Given the description of an element on the screen output the (x, y) to click on. 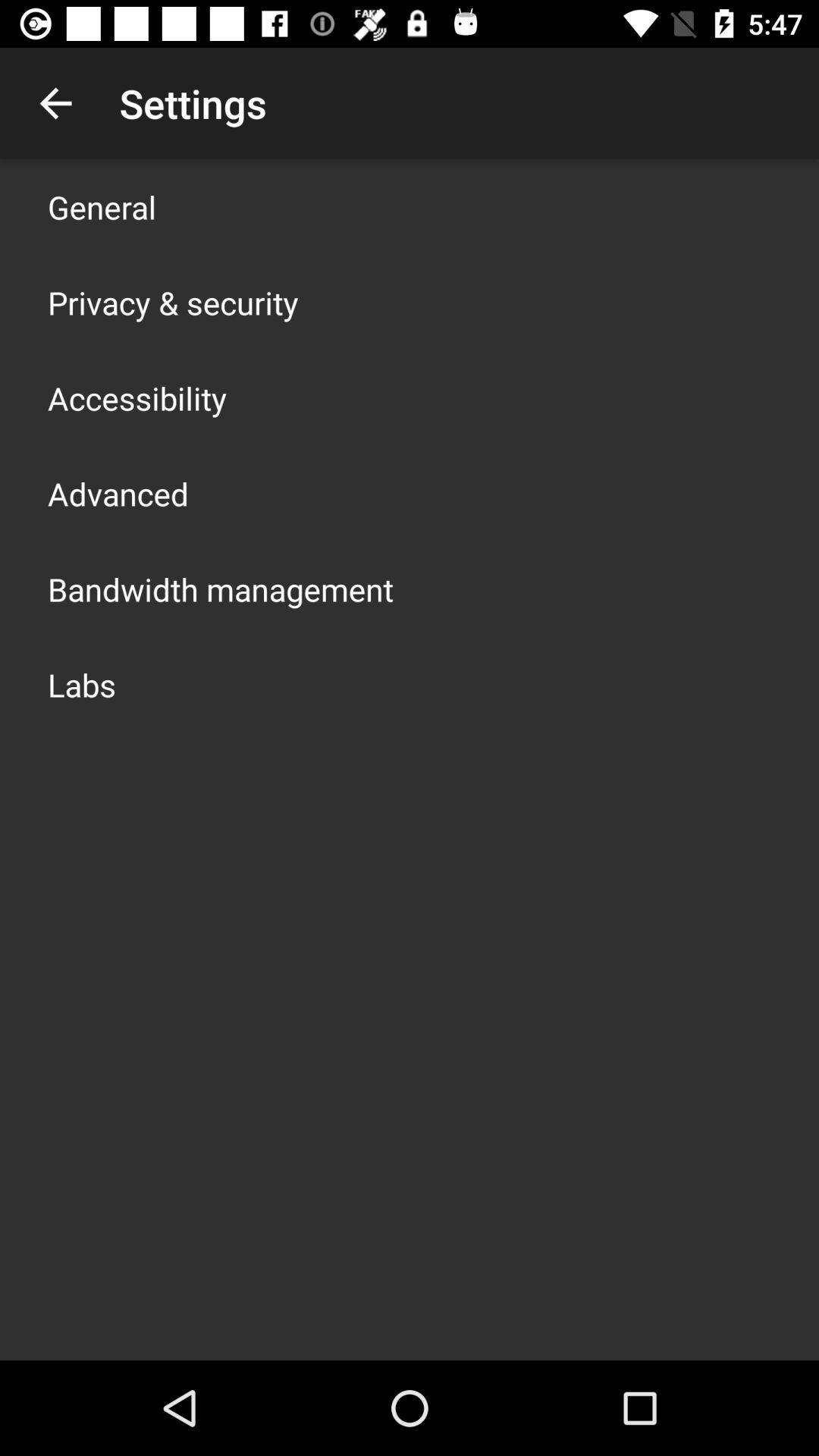
press item below general app (172, 302)
